Given the description of an element on the screen output the (x, y) to click on. 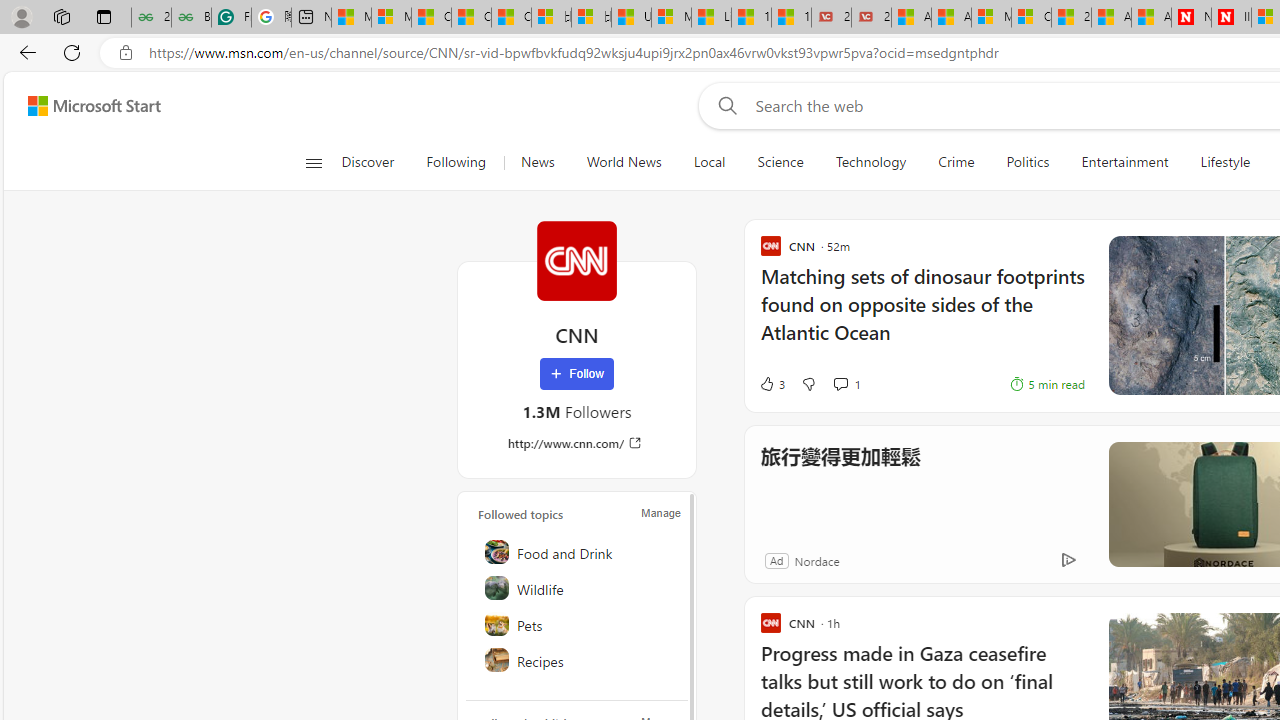
Crime (955, 162)
25 Basic Linux Commands For Beginners - GeeksforGeeks (151, 17)
http://www.cnn.com/ (576, 443)
World News (623, 162)
Local (708, 162)
Dislike (808, 384)
Technology (870, 162)
Lifestyle (1225, 162)
Class: button-glyph (313, 162)
Politics (1027, 162)
